Given the description of an element on the screen output the (x, y) to click on. 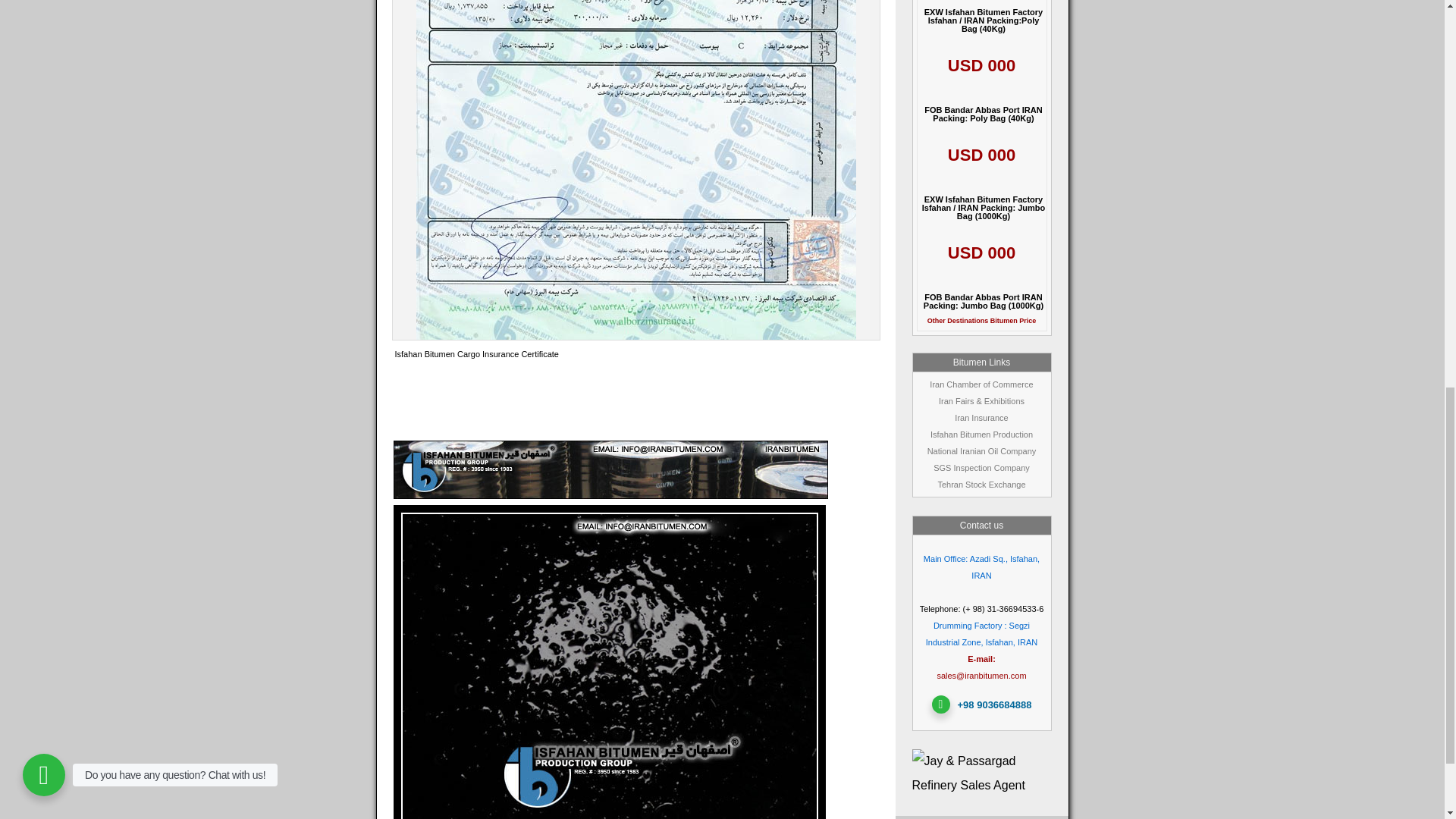
Tehran Stock Exchange (981, 483)
National Iranian Oil Company (981, 450)
Iran Chamber of Commerce (981, 384)
Iran Insurance (981, 417)
Isfahan Bitumen Production (981, 433)
SGS Inspection Company (981, 467)
